Given the description of an element on the screen output the (x, y) to click on. 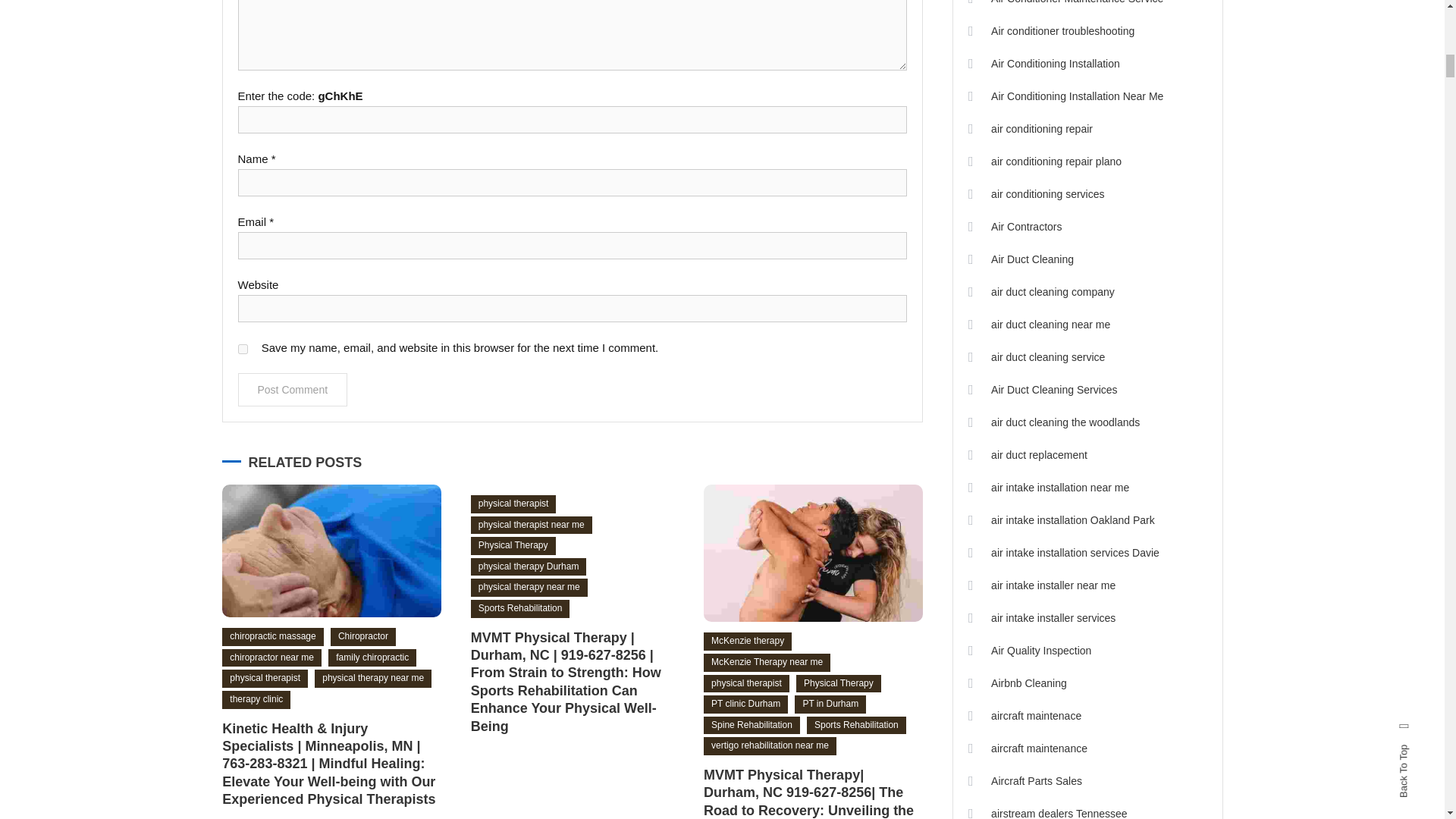
yes (242, 348)
Post Comment (292, 389)
